Given the description of an element on the screen output the (x, y) to click on. 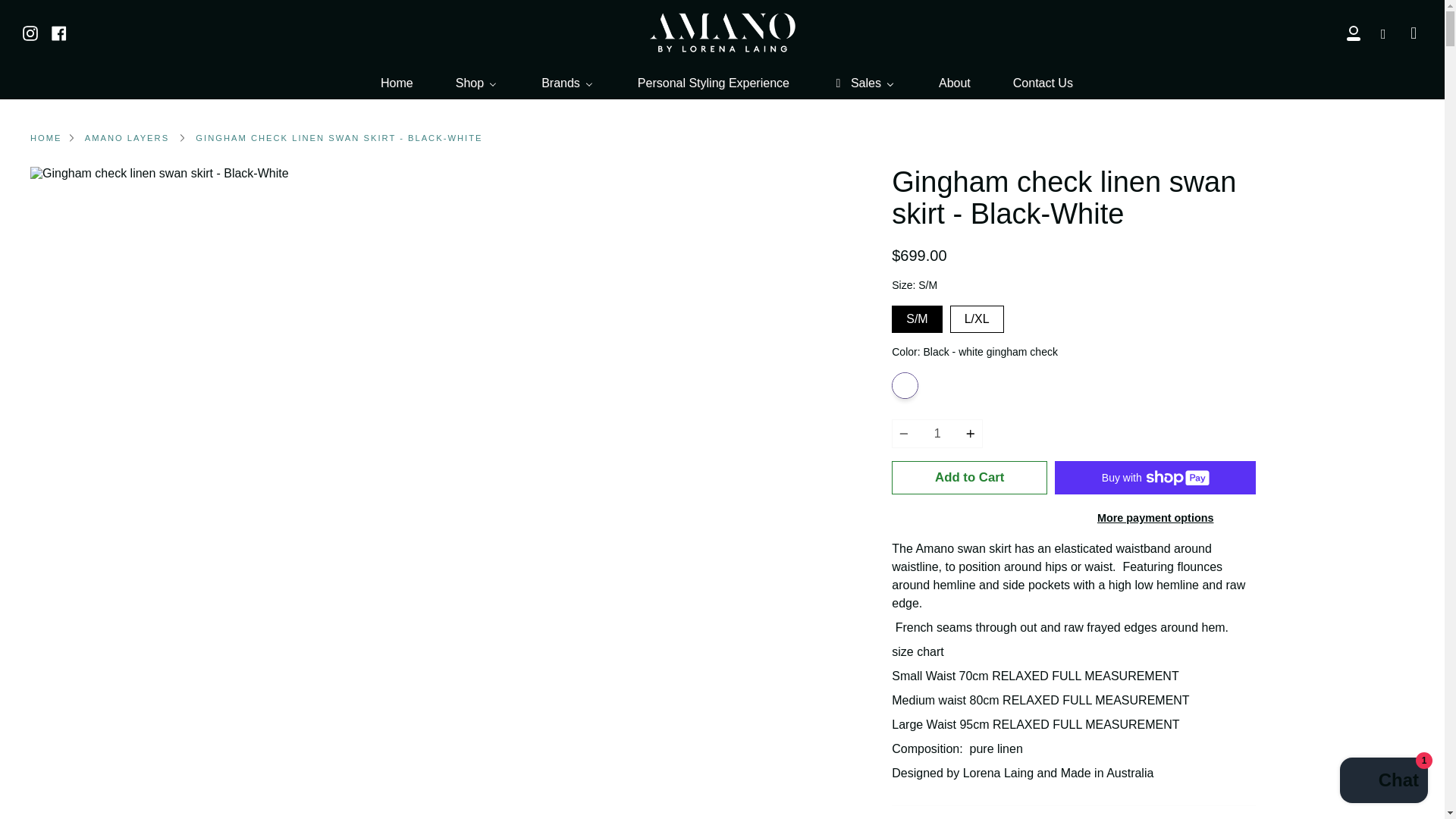
Amano by Lorena Laing on Instagram (30, 31)
Home (396, 82)
Instagram (30, 31)
Brands (566, 82)
1 (936, 433)
Shopify online store chat (1383, 781)
Amano by Lorena Laing on Facebook (58, 31)
Facebook (58, 31)
Shop (475, 82)
